Given the description of an element on the screen output the (x, y) to click on. 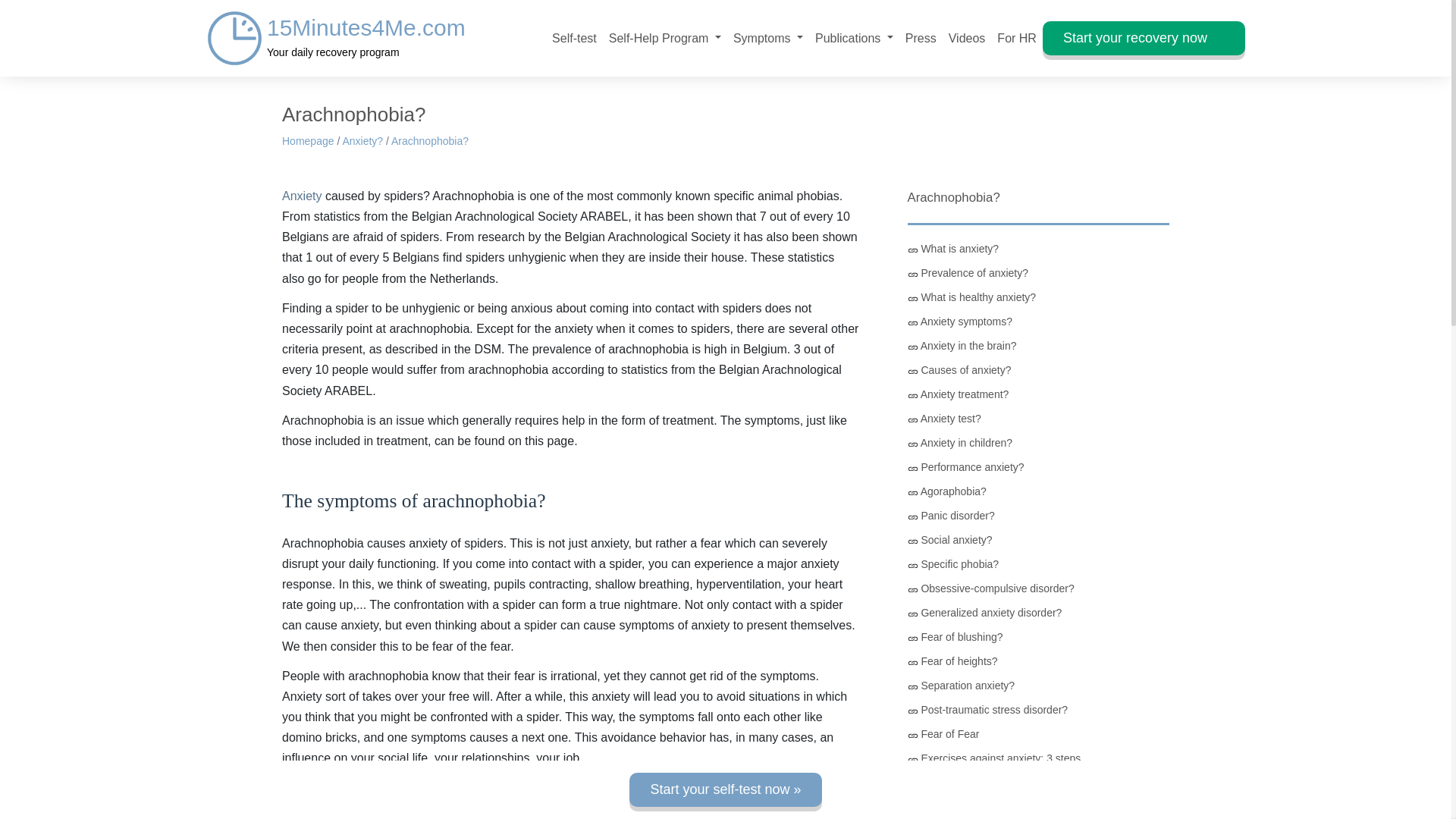
Symptoms (767, 37)
Videos (966, 37)
Self-Help Program (335, 37)
For HR (664, 37)
Self-test (1016, 37)
Publications (574, 37)
Start your recovery now (854, 37)
Press (1143, 38)
